Given the description of an element on the screen output the (x, y) to click on. 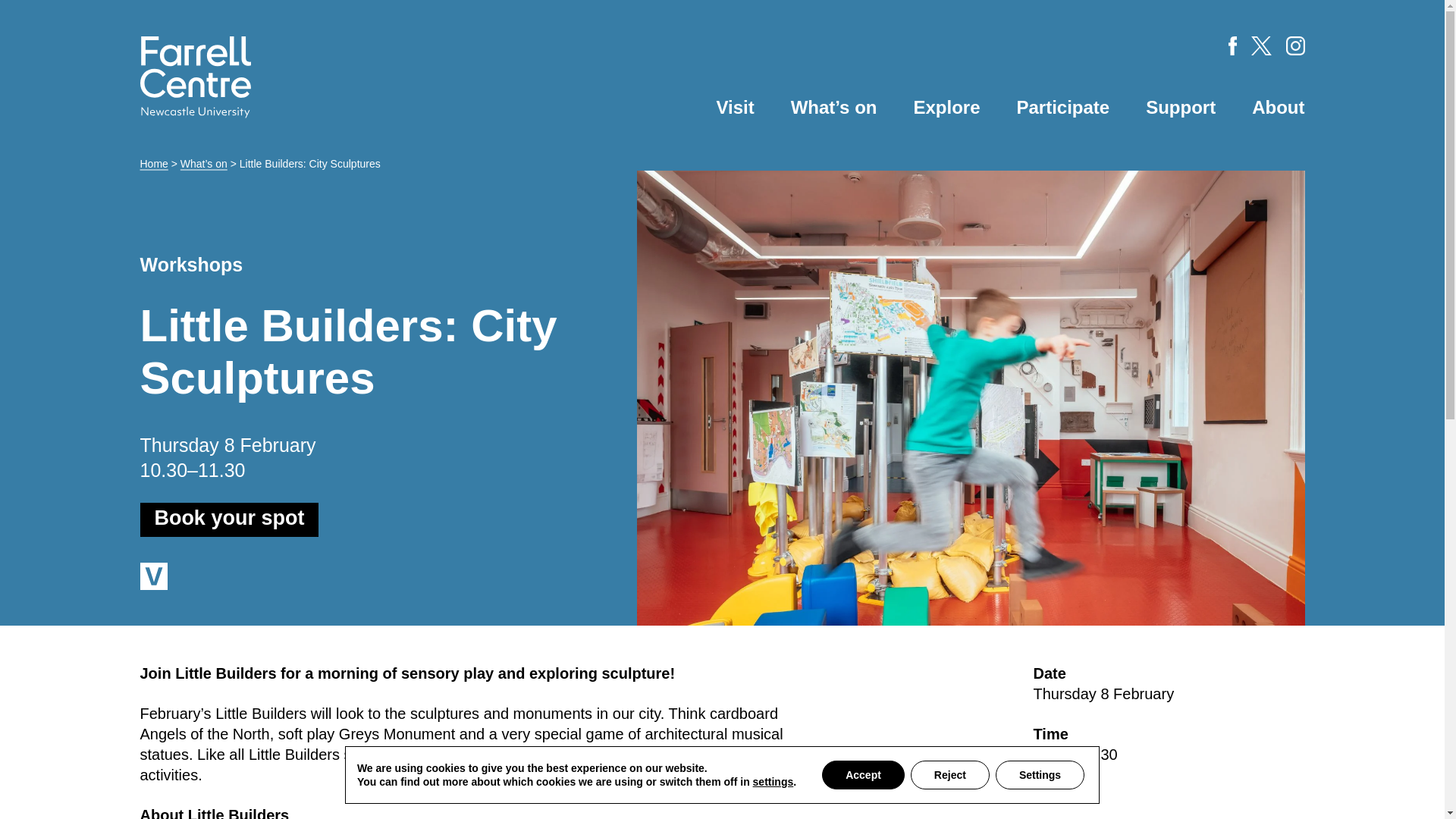
Farrell Centre on Twitter-x (1260, 45)
Book your spot (228, 519)
Support (1180, 107)
Visit (735, 107)
Home (153, 163)
Farrell Centre on Instagram (1294, 45)
Go to Farrell Centre. (153, 163)
Participate (1062, 107)
Farrell Centre home page (194, 77)
About (1278, 107)
Explore (945, 107)
